Given the description of an element on the screen output the (x, y) to click on. 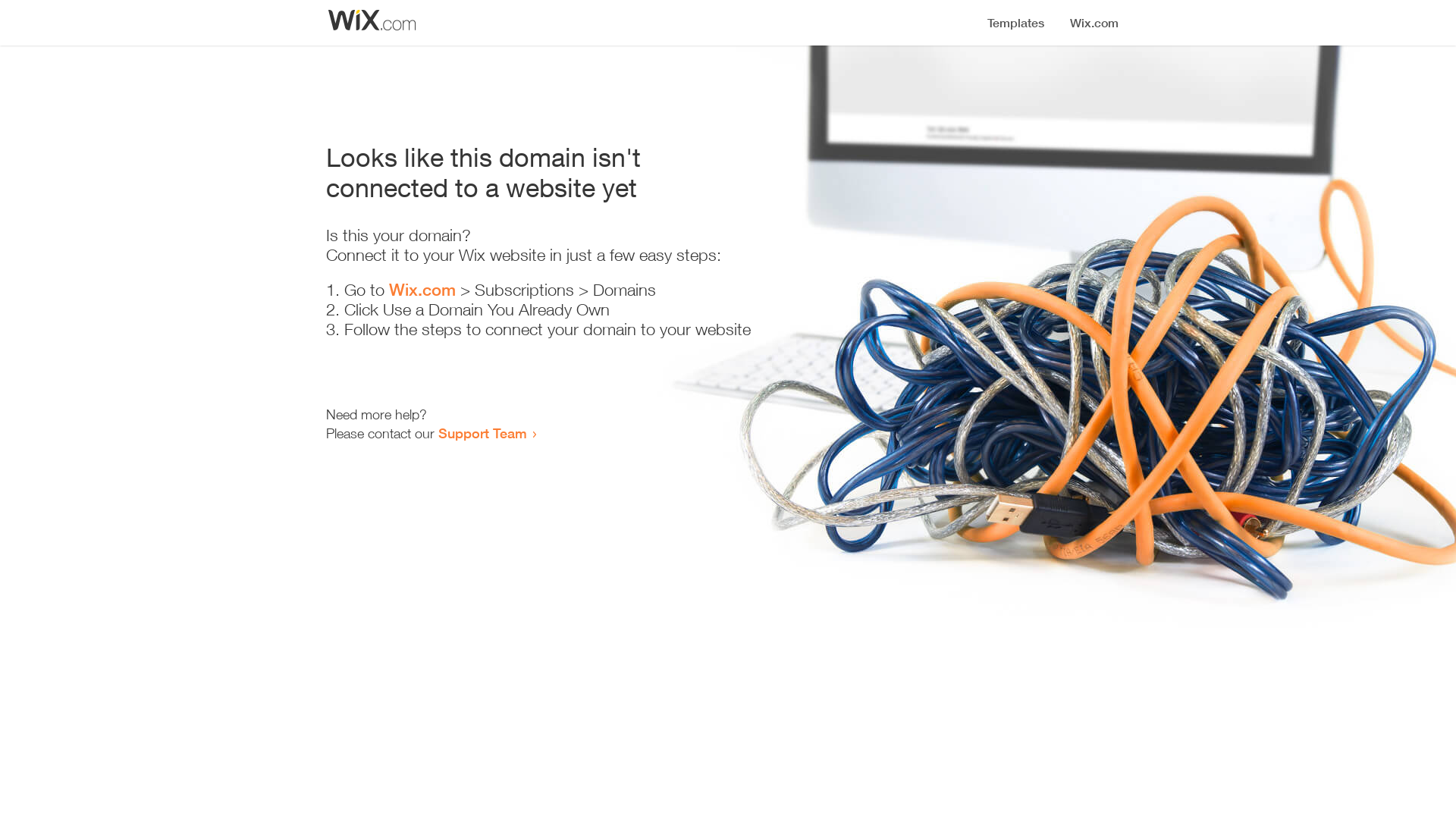
Wix.com Element type: text (422, 289)
Support Team Element type: text (482, 432)
